Given the description of an element on the screen output the (x, y) to click on. 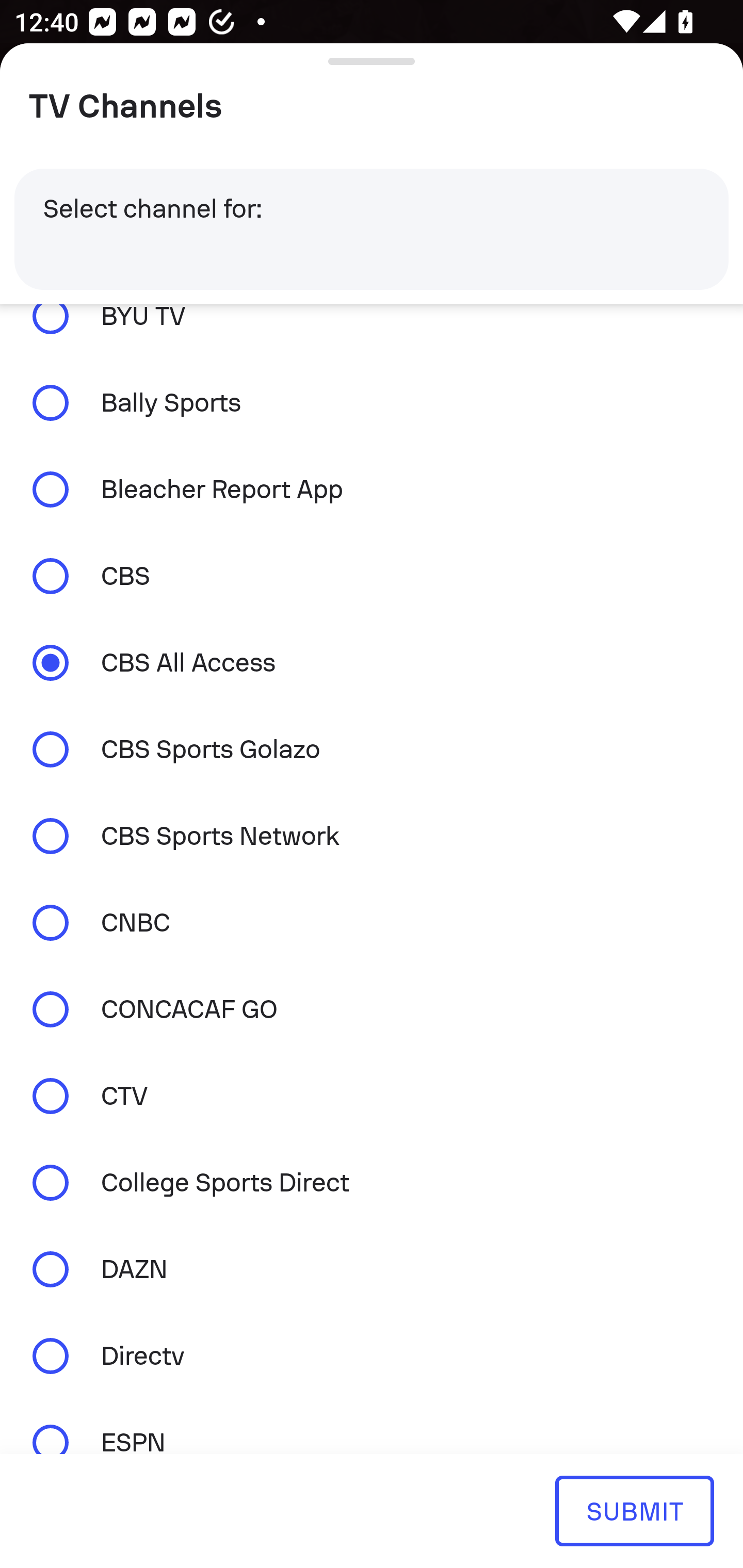
BYU TV (371, 331)
Bally Sports (371, 402)
Bleacher Report App (371, 489)
CBS (371, 576)
CBS All Access (371, 662)
CBS Sports Golazo (371, 749)
CBS Sports Network (371, 836)
CNBC (371, 922)
CONCACAF GO (371, 1008)
CTV (371, 1095)
College Sports Direct (371, 1182)
DAZN (371, 1269)
Directv (371, 1355)
ESPN (371, 1425)
SUBMIT (634, 1510)
